Given the description of an element on the screen output the (x, y) to click on. 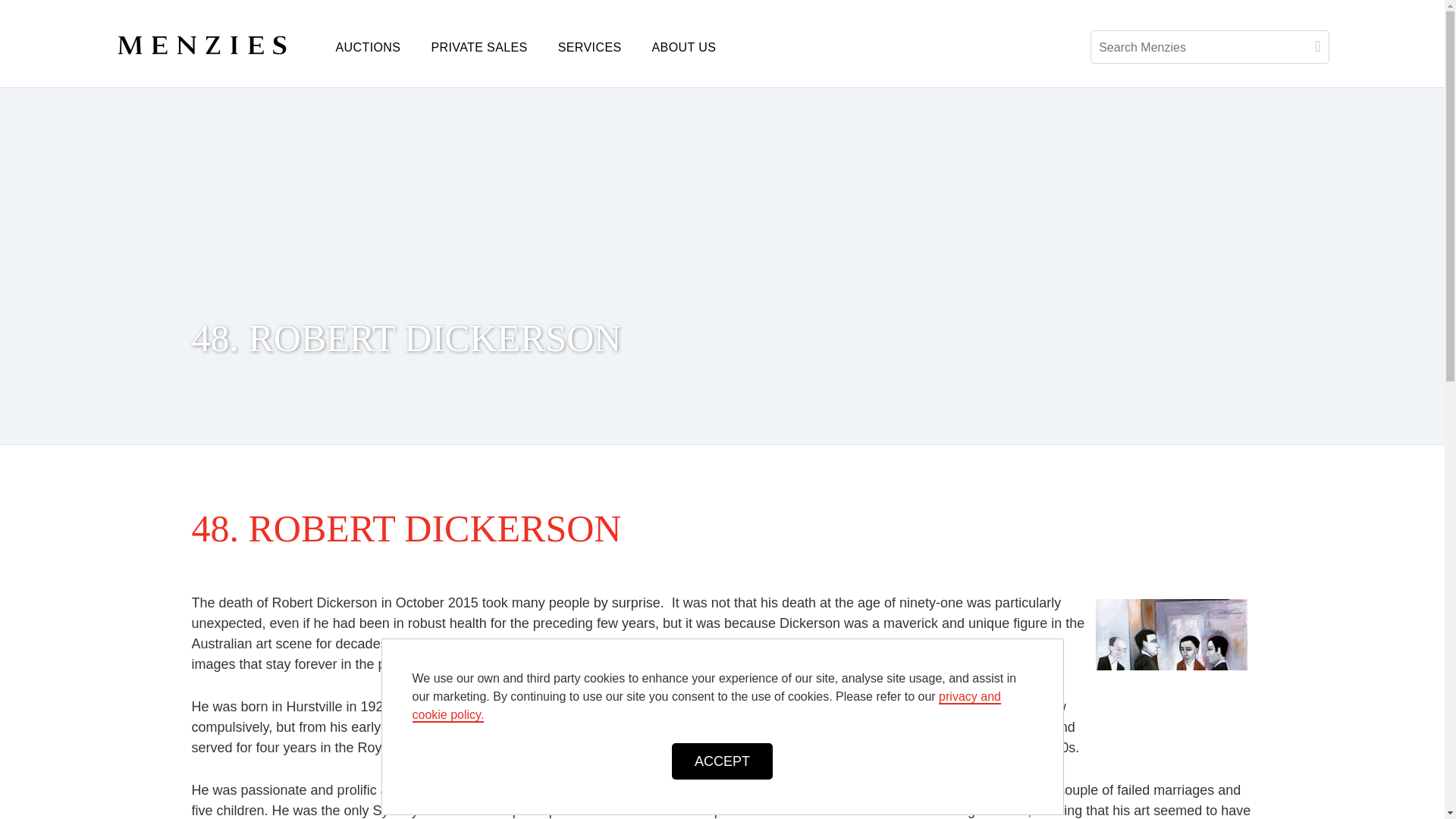
AUCTIONS (367, 47)
SERVICES (590, 47)
PRIVATE SALES (477, 47)
ABOUT US (684, 47)
Menzies Art Brands (217, 43)
